Given the description of an element on the screen output the (x, y) to click on. 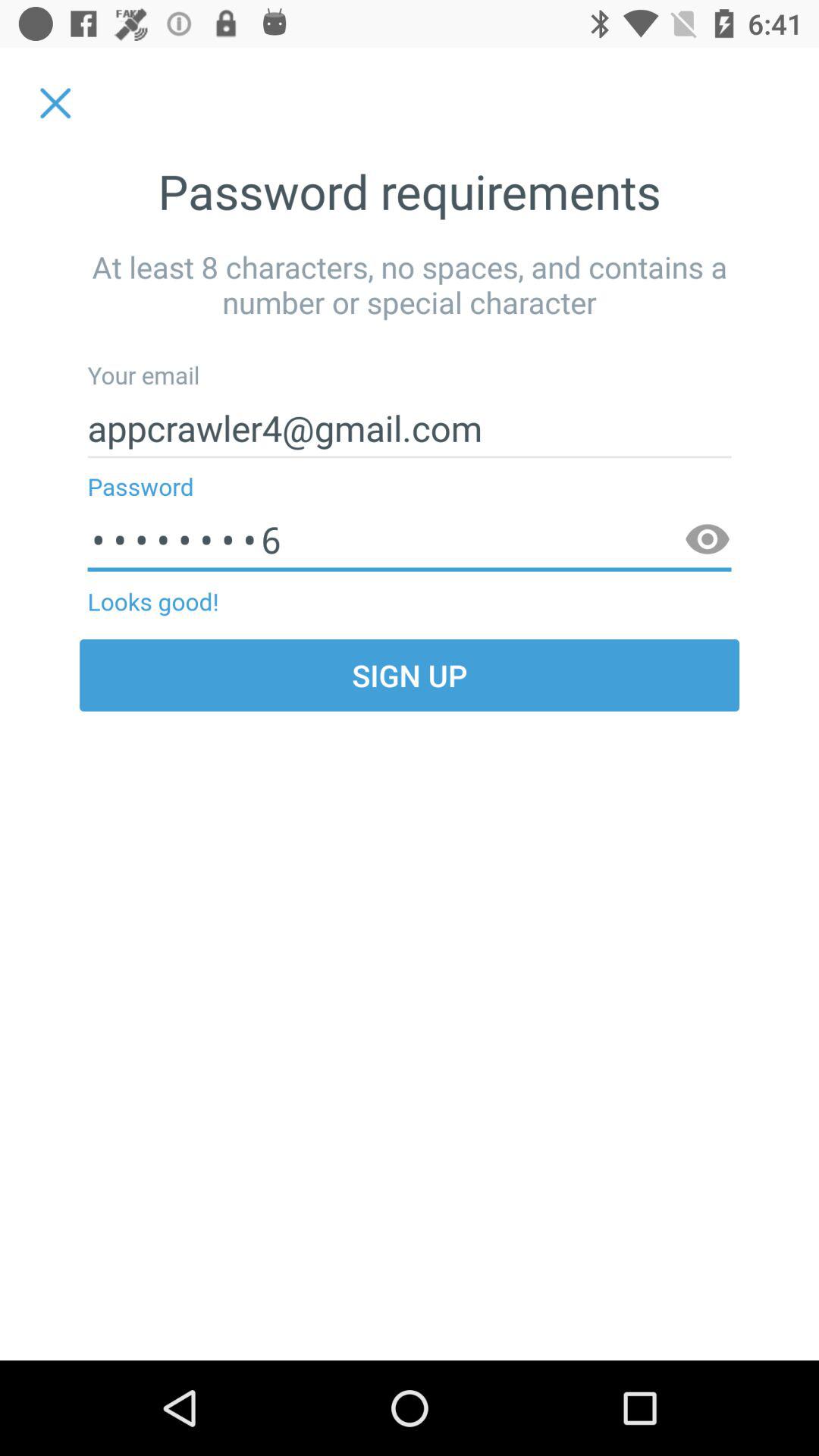
open the icon on the right (707, 539)
